Given the description of an element on the screen output the (x, y) to click on. 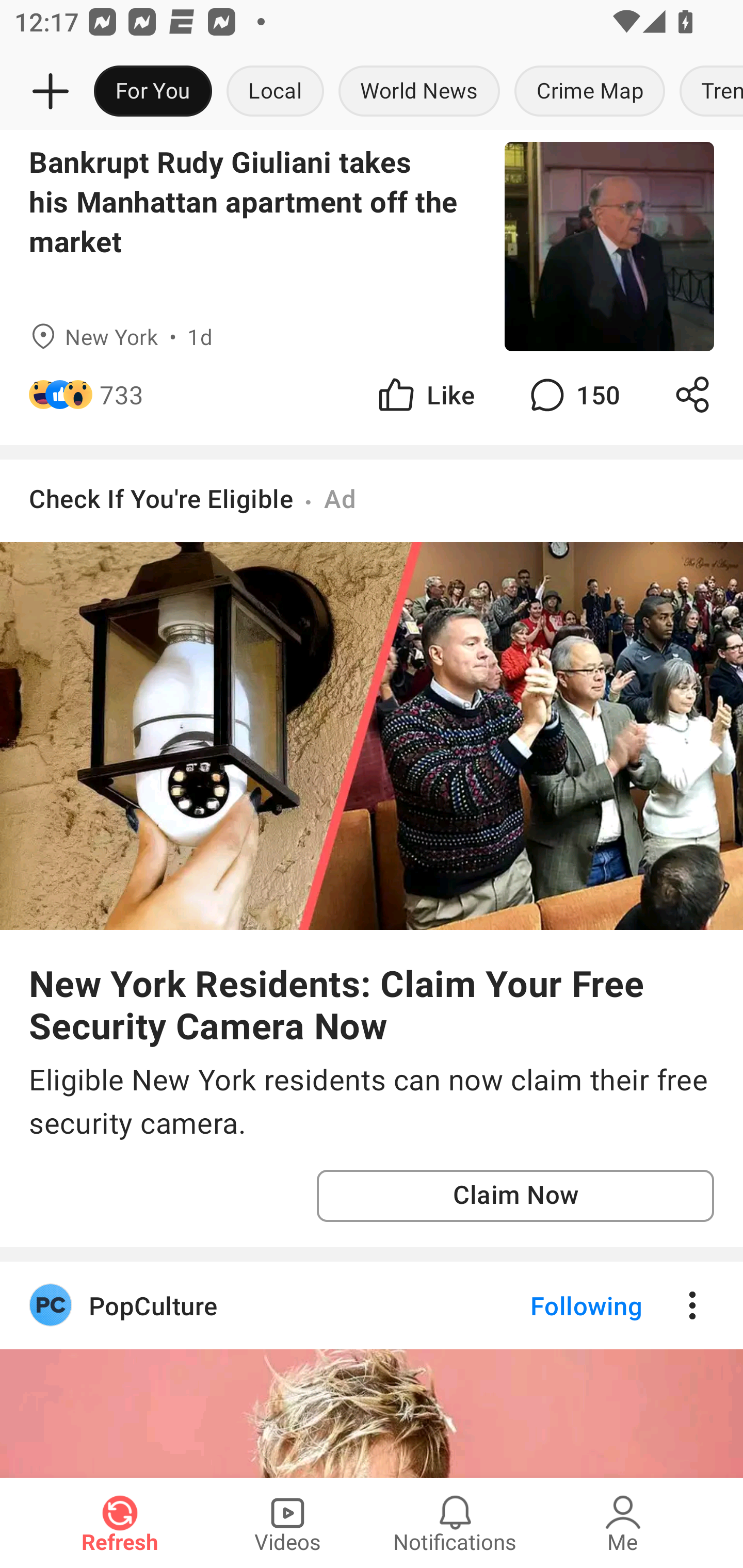
For You (152, 91)
Local (275, 91)
World News (419, 91)
Crime Map (589, 91)
733 (121, 394)
Like (425, 394)
150 (572, 394)
Check If You're Eligible (160, 498)
Claim Now (515, 1195)
PopCulture Following (371, 1306)
Following (569, 1306)
Videos (287, 1522)
Notifications (455, 1522)
Me (622, 1522)
